Given the description of an element on the screen output the (x, y) to click on. 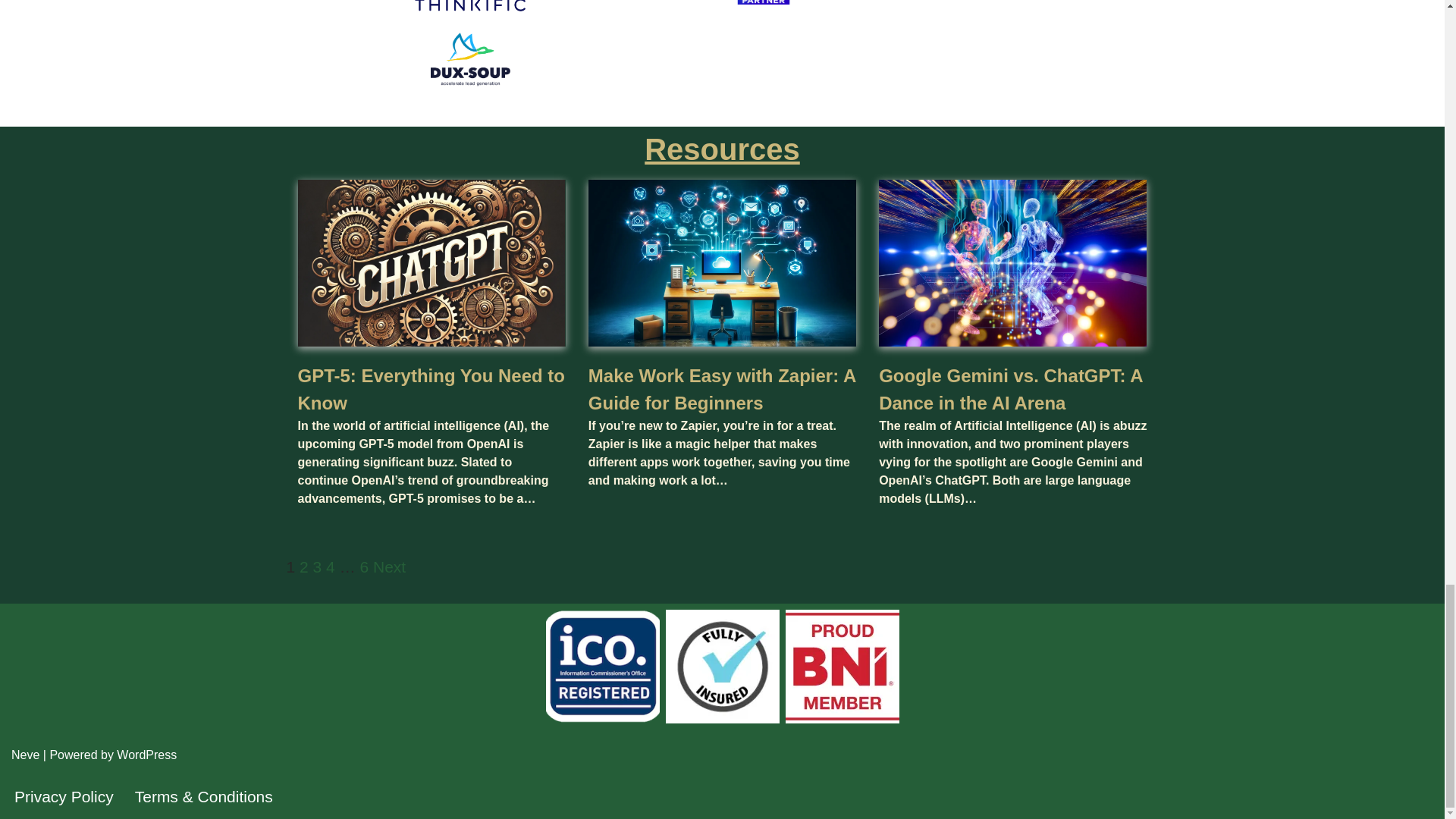
Make Work Easy with Zapier: A Guide for Beginners (722, 389)
GPT-5: Everything You Need to Know (430, 389)
GPT-5: Everything You Need to Know (430, 389)
Google Gemini vs. ChatGPT: A Dance in the AI Arena (1010, 389)
Google Gemini vs. ChatGPT: A Dance in the AI Arena (1010, 389)
Make Work Easy with Zapier: A Guide for Beginners (722, 389)
